Given the description of an element on the screen output the (x, y) to click on. 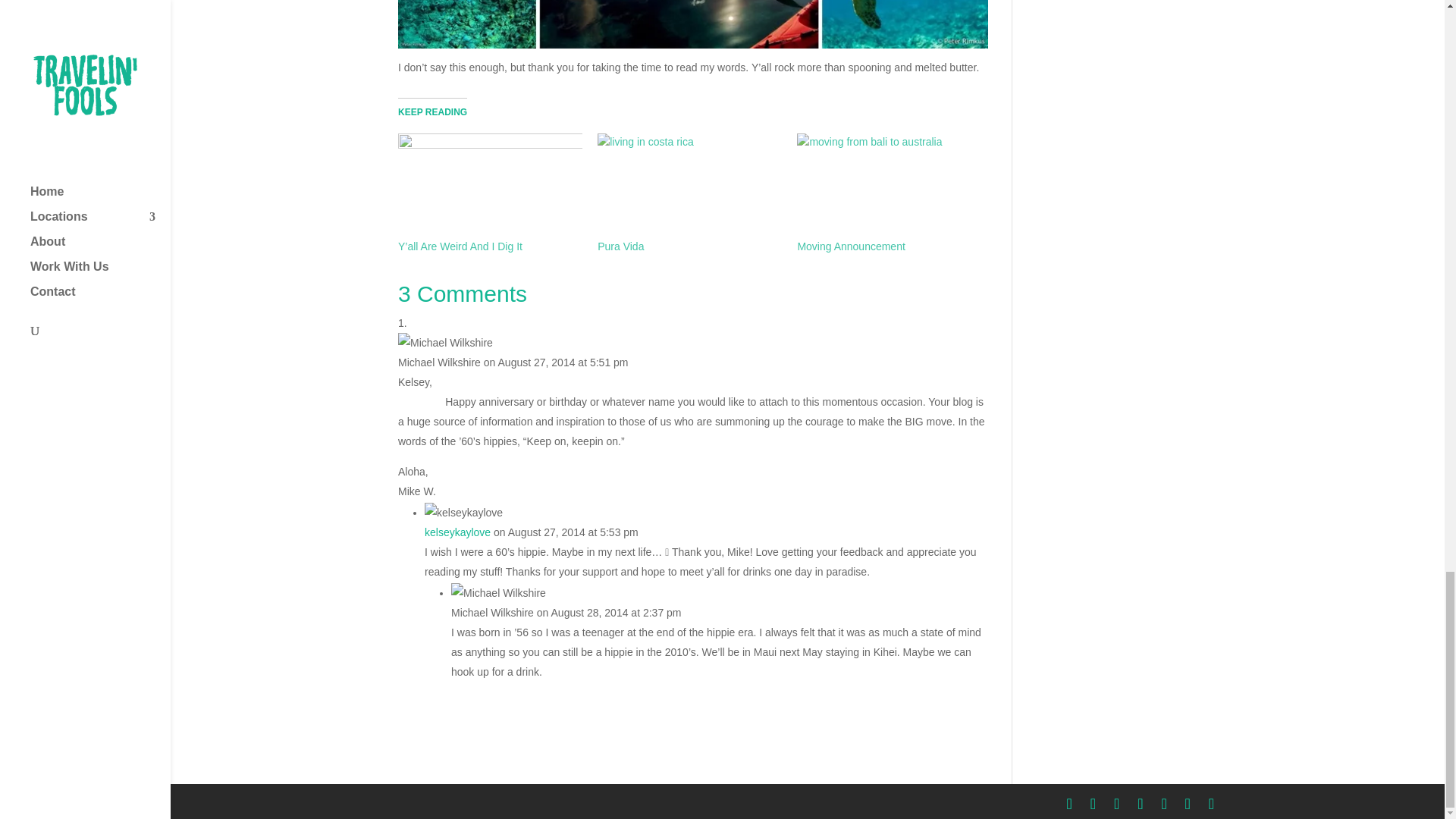
Moving Announcement (850, 246)
Pura Vida (619, 246)
Moving Announcement (888, 186)
Pura Vida (688, 186)
